Given the description of an element on the screen output the (x, y) to click on. 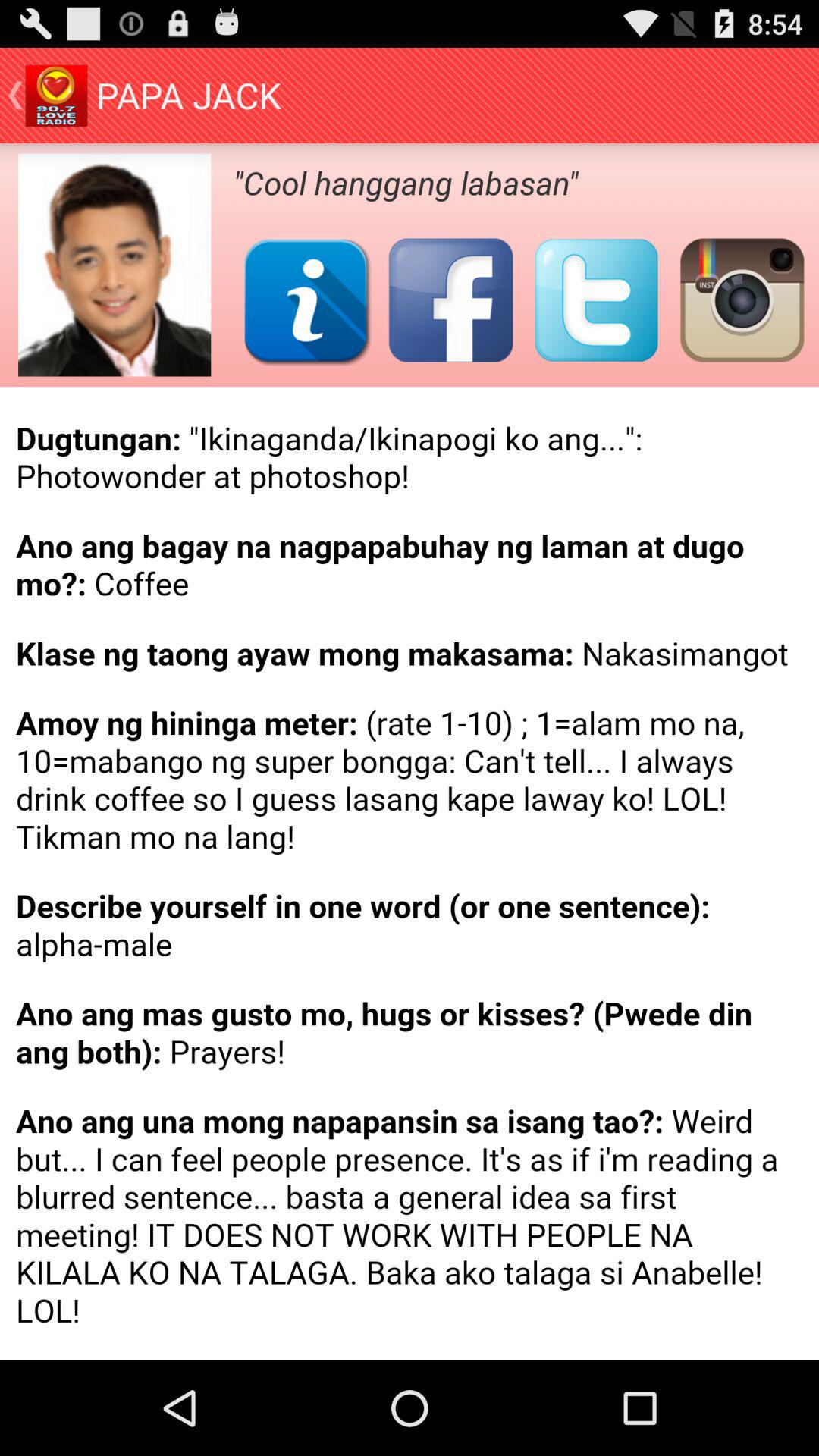
this button is for the instagram page (742, 299)
